Given the description of an element on the screen output the (x, y) to click on. 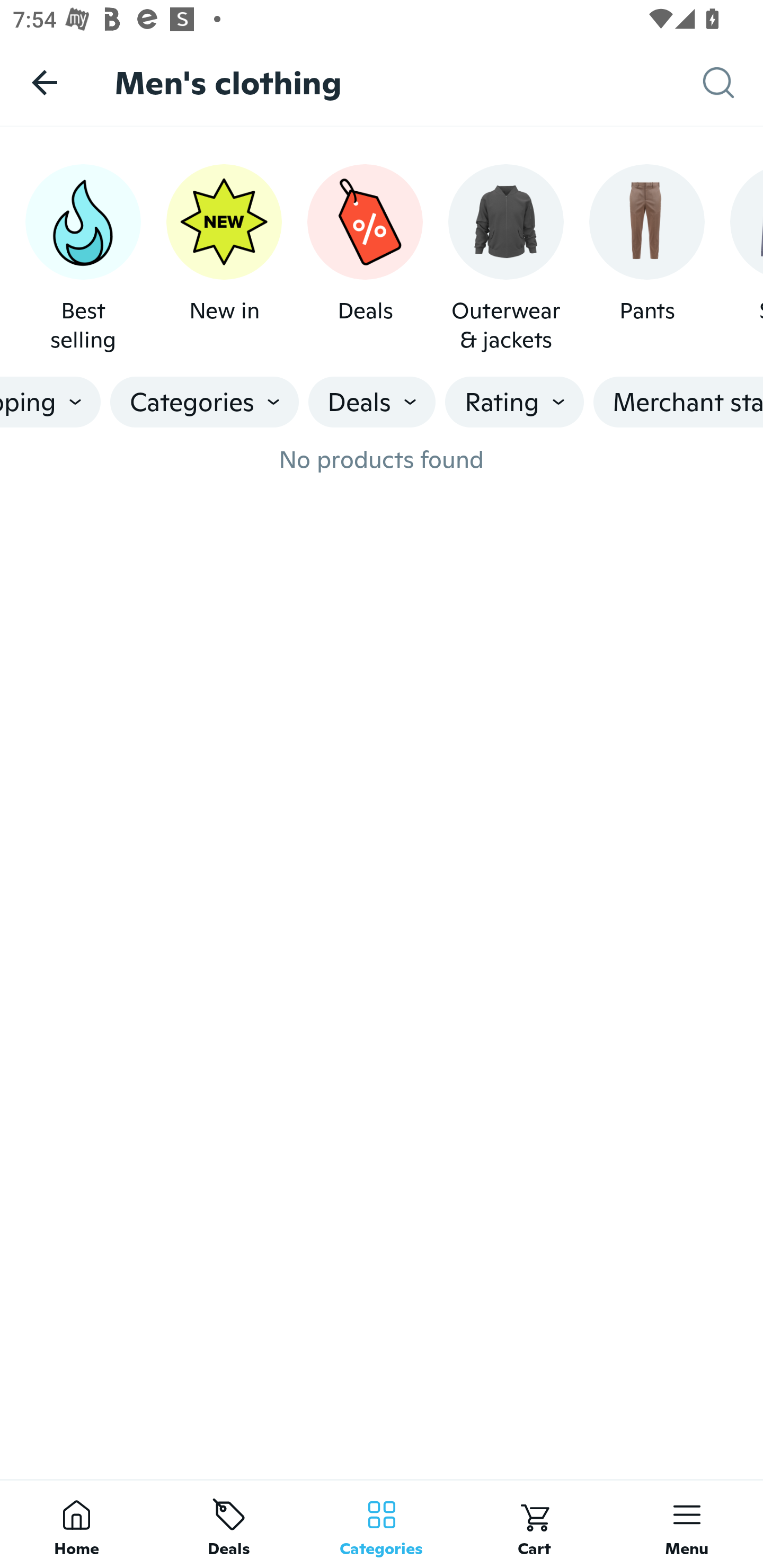
Navigate up (44, 82)
Search (732, 82)
Best selling (83, 259)
New in (223, 259)
Deals (364, 259)
Outerwear & jackets (505, 259)
Pants (647, 259)
Shipping (50, 402)
Categories (204, 402)
Deals (371, 402)
Rating (513, 402)
Merchant status (678, 402)
Home (76, 1523)
Deals (228, 1523)
Categories (381, 1523)
Cart (533, 1523)
Menu (686, 1523)
